Given the description of an element on the screen output the (x, y) to click on. 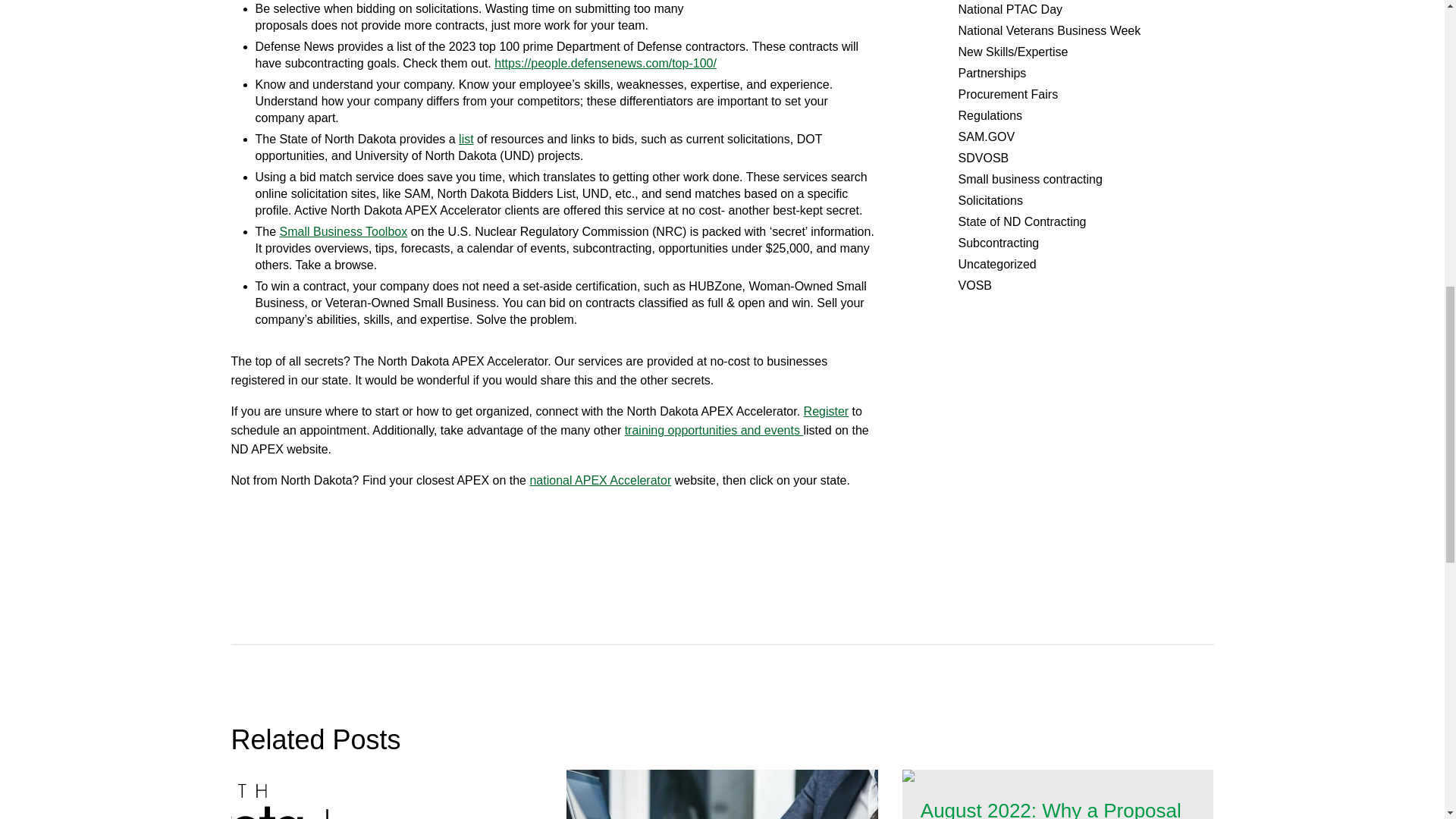
SDVOSB (983, 157)
Subcontracting (998, 242)
Register (825, 410)
list (466, 138)
Regulations (990, 115)
Small business contracting (1030, 178)
Small Business Toolbox (343, 231)
National PTAC Day (1010, 9)
Solicitations (990, 200)
Procurement Fairs (1008, 93)
SAM.GOV (986, 136)
national APEX Accelerator (600, 480)
State of ND Contracting (1022, 221)
National Veterans Business Week (1049, 30)
Partnerships (992, 72)
